Given the description of an element on the screen output the (x, y) to click on. 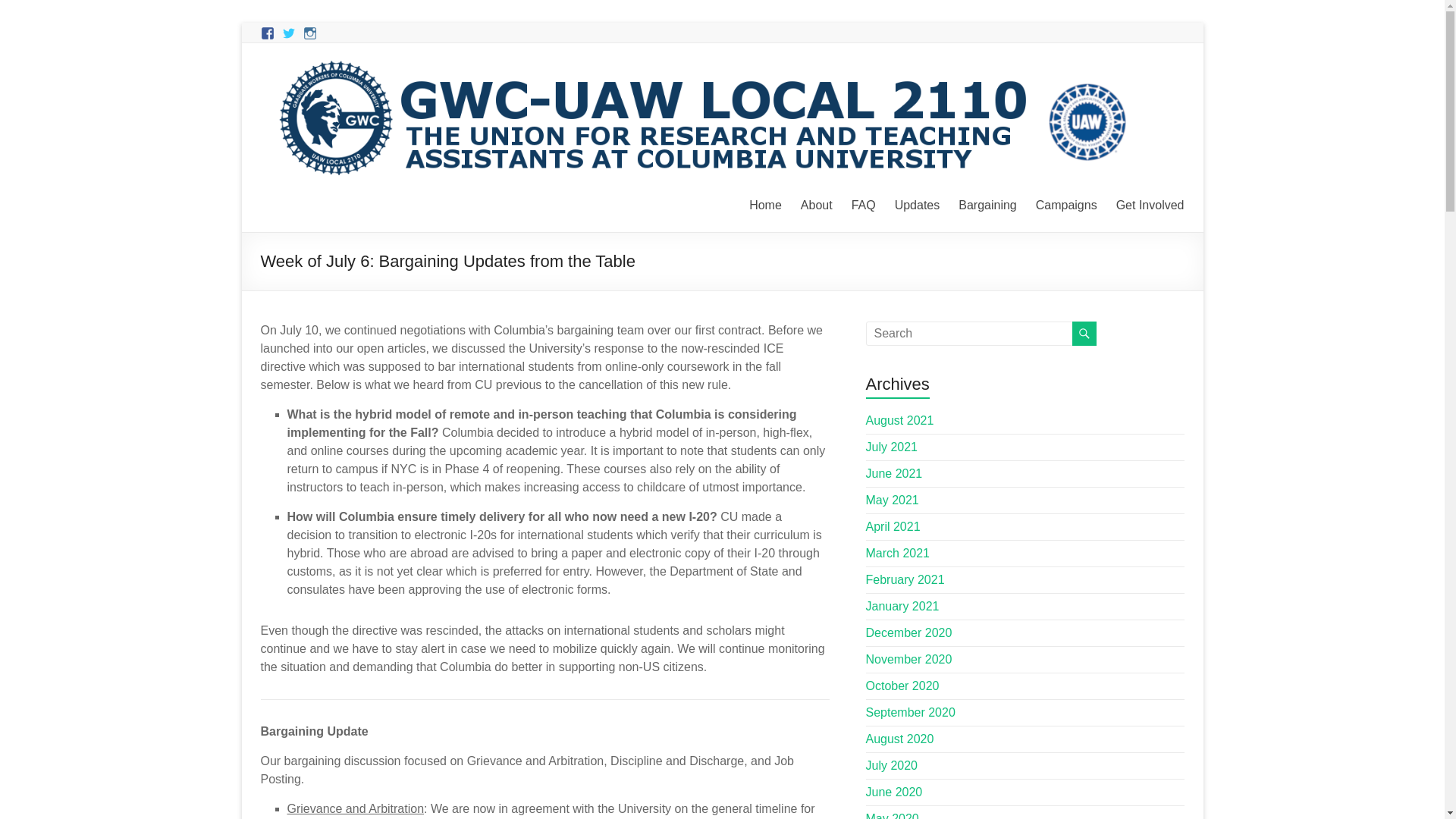
Get Involved (1150, 202)
About (816, 202)
Bargaining (987, 202)
Home (765, 202)
Campaigns (1066, 202)
Updates (917, 202)
